Given the description of an element on the screen output the (x, y) to click on. 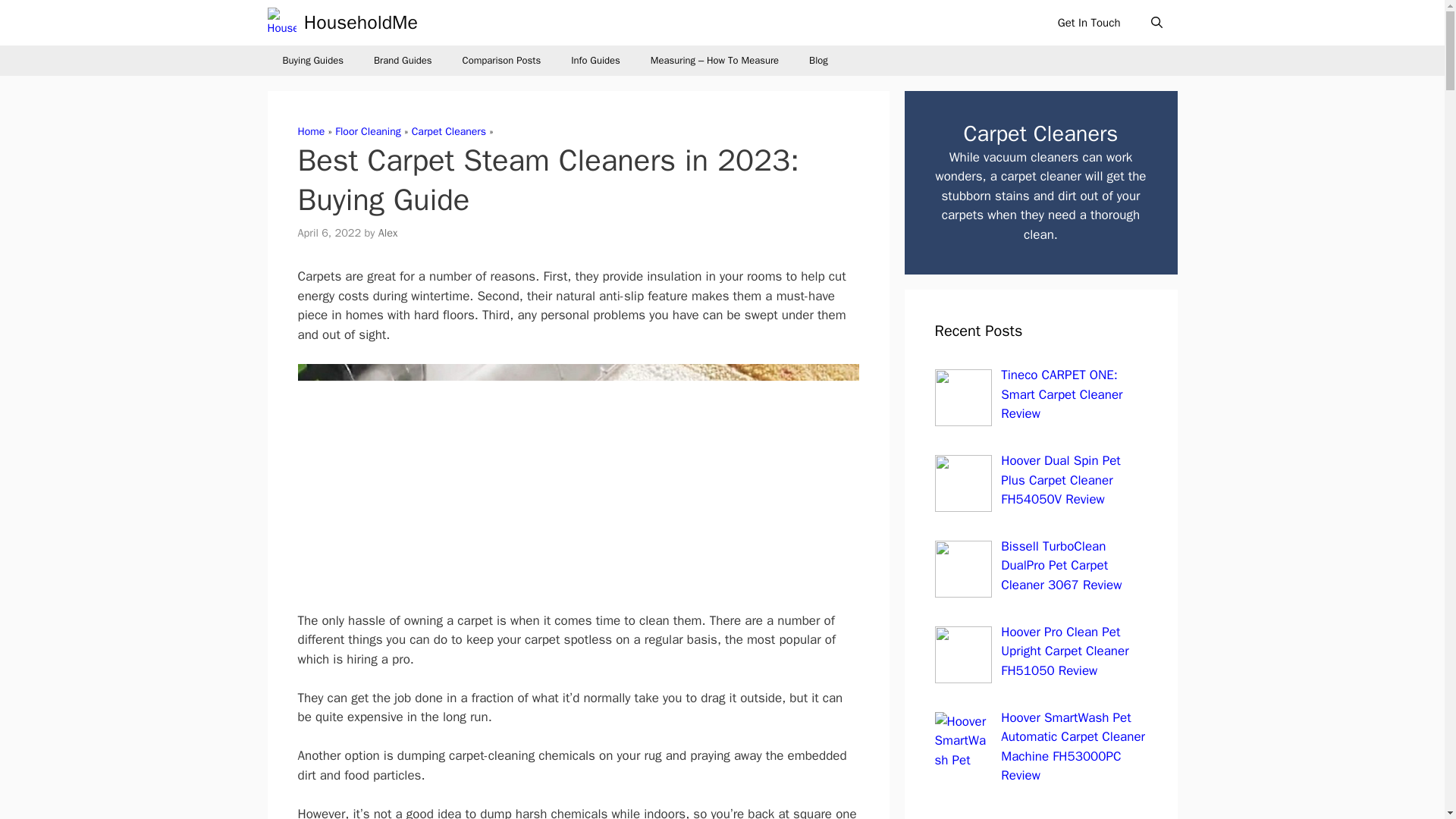
Buying Guides (312, 60)
Floor Cleaning (367, 131)
Info Guides (595, 60)
Carpet Cleaners (449, 131)
Comparison Posts (501, 60)
Alex (387, 232)
Get In Touch (1088, 22)
View all posts by Alex (387, 232)
HouseholdMe (360, 22)
Blog (818, 60)
